Given the description of an element on the screen output the (x, y) to click on. 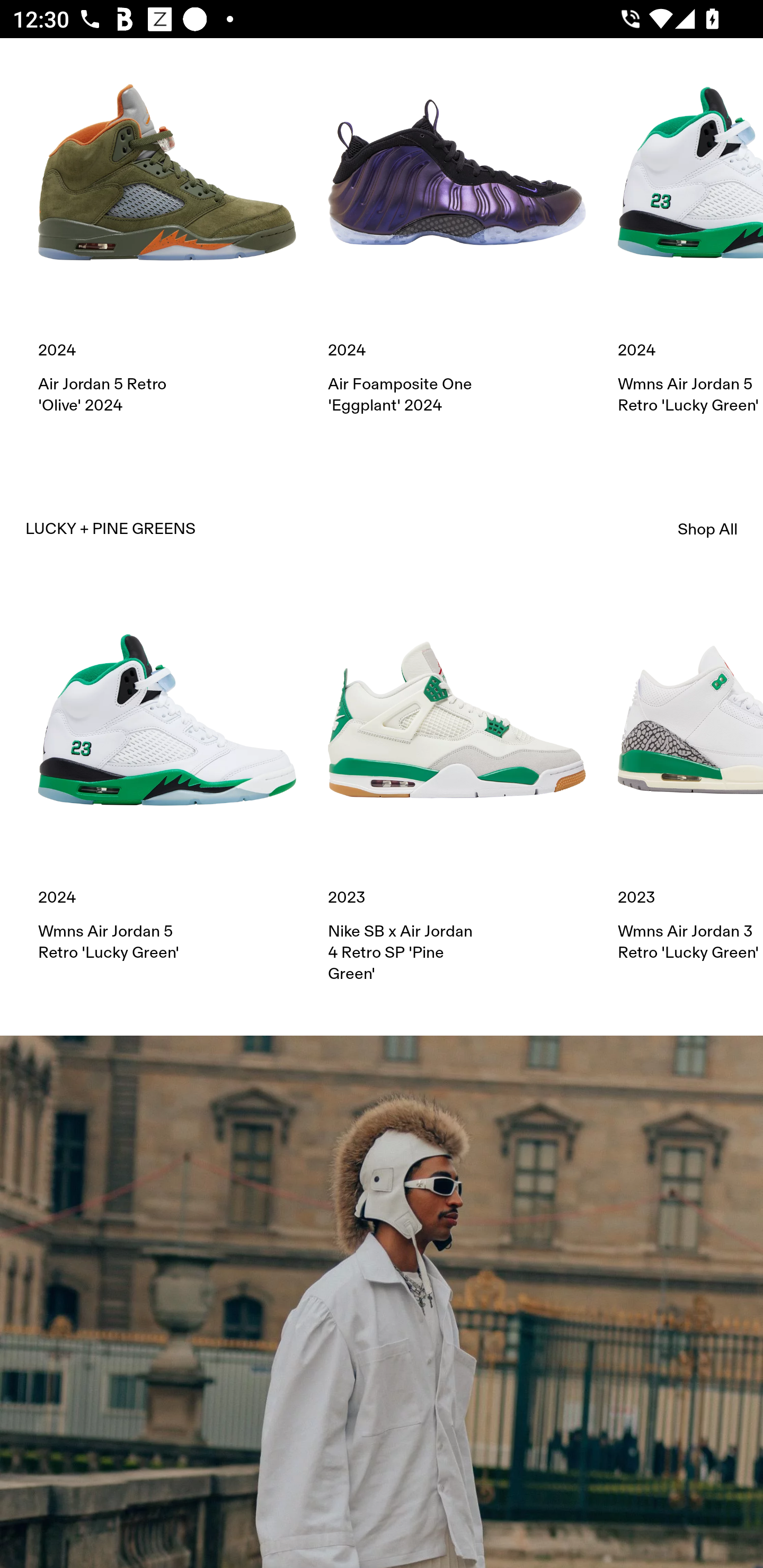
2024 Air Jordan 5 Retro 'Olive' 2024 (167, 230)
2024 Air Foamposite One 'Eggplant' 2024 (456, 230)
2024 Wmns Air Jordan 5 Retro 'Lucky Green' (690, 230)
Shop All (707, 528)
2024 Wmns Air Jordan 5 Retro 'Lucky Green' (167, 777)
2023 Nike SB x Air Jordan 4 Retro SP 'Pine Green' (456, 787)
2023 Wmns Air Jordan 3 Retro 'Lucky Green' (690, 777)
